Given the description of an element on the screen output the (x, y) to click on. 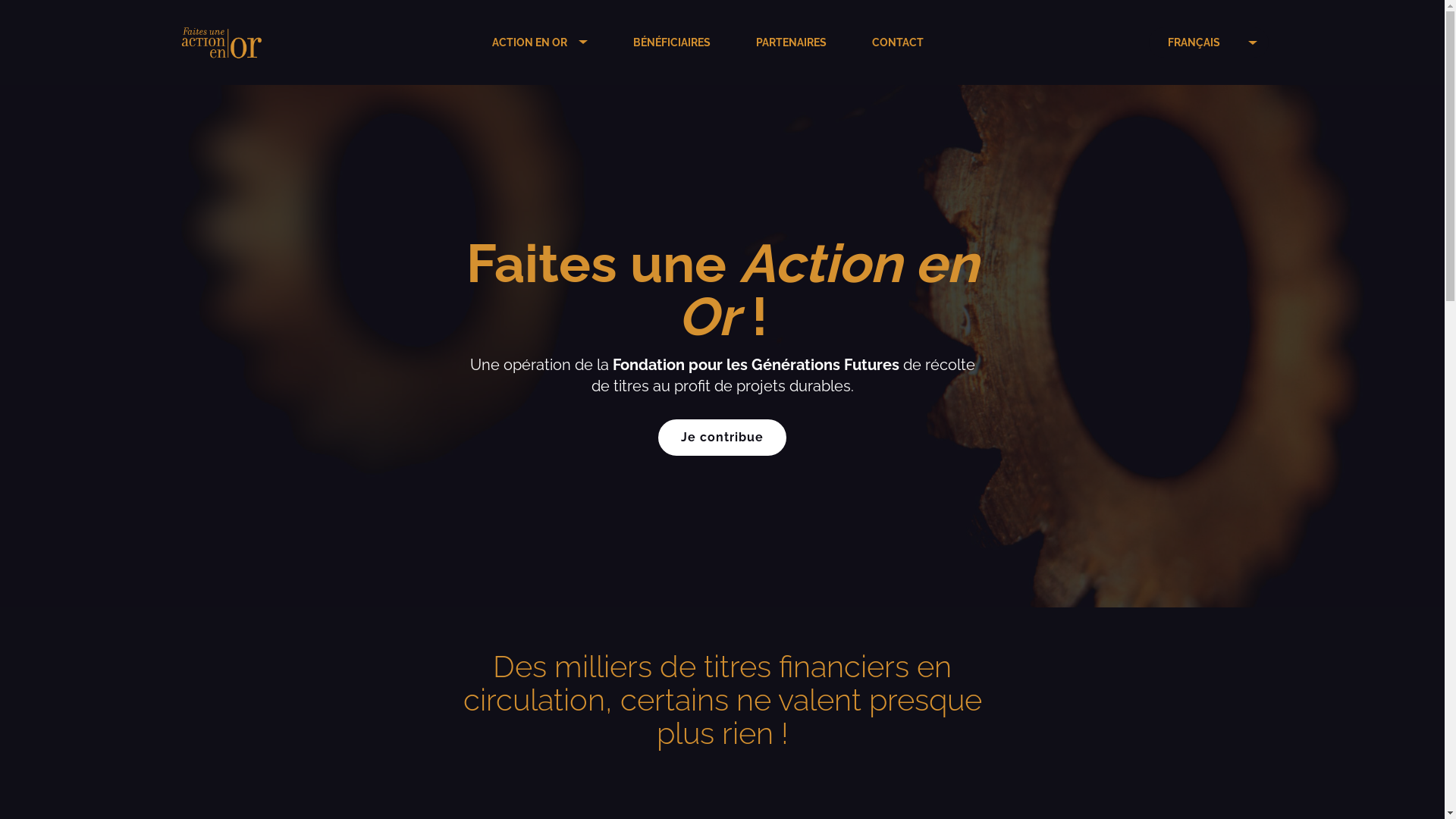
CONTACT Element type: text (897, 42)
Je contribue Element type: text (722, 437)
Home Element type: hover (288, 42)
ACTION EN OR Element type: text (529, 42)
PARTENAIRES Element type: text (791, 42)
